Given the description of an element on the screen output the (x, y) to click on. 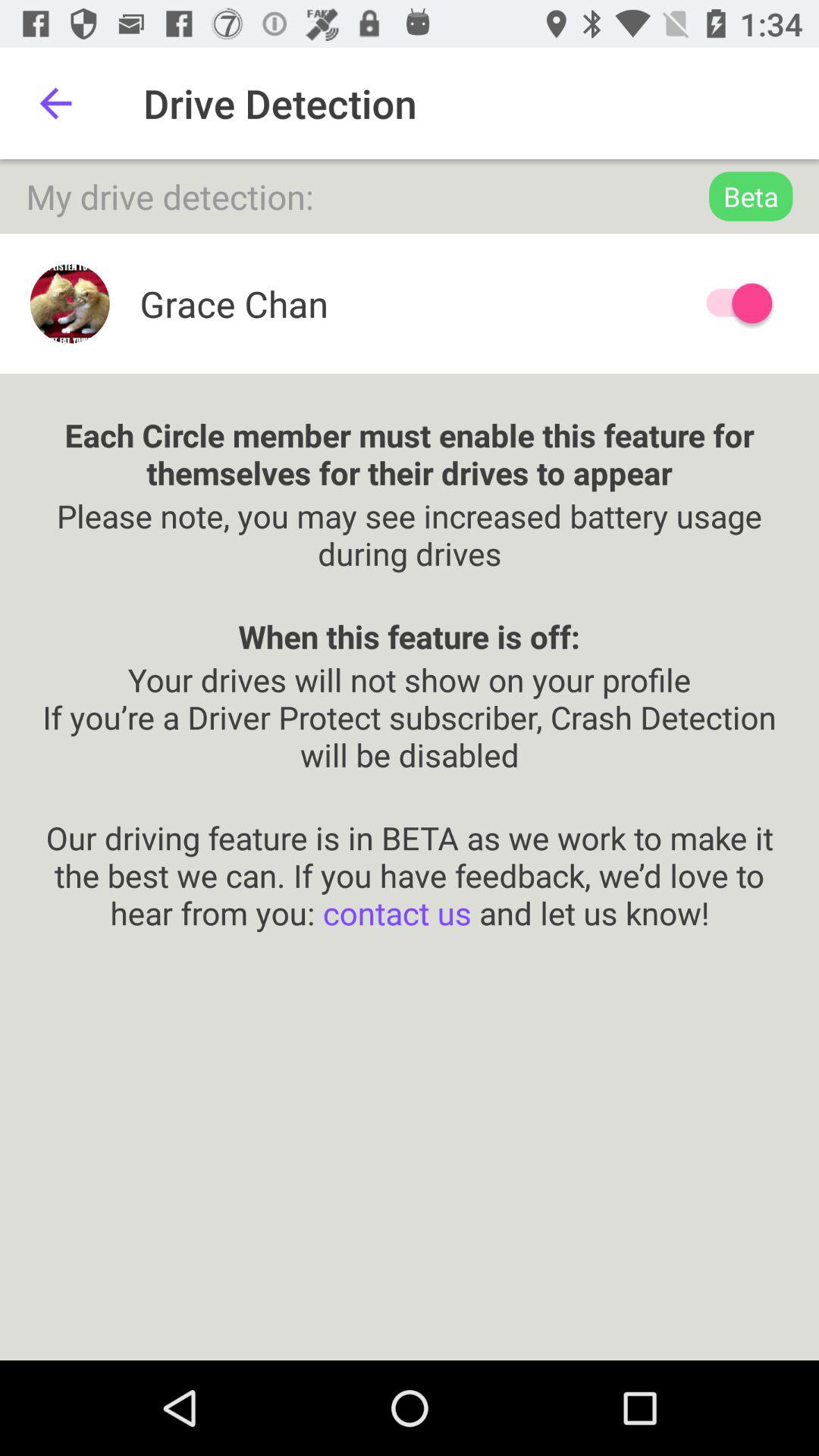
toggle driver (731, 303)
